Given the description of an element on the screen output the (x, y) to click on. 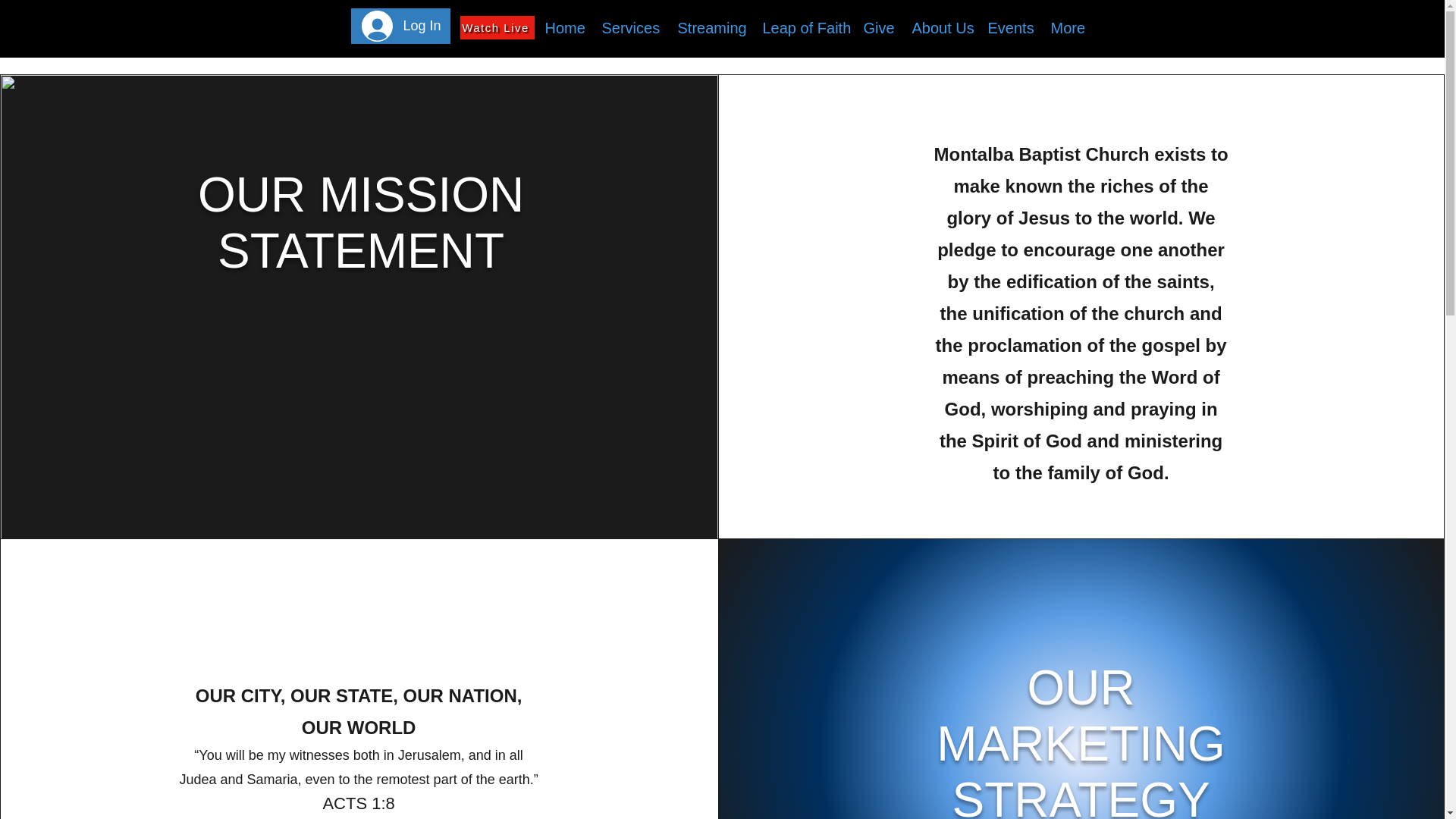
Home (562, 28)
Give (876, 28)
Watch Live (497, 27)
Log In (399, 25)
